Given the description of an element on the screen output the (x, y) to click on. 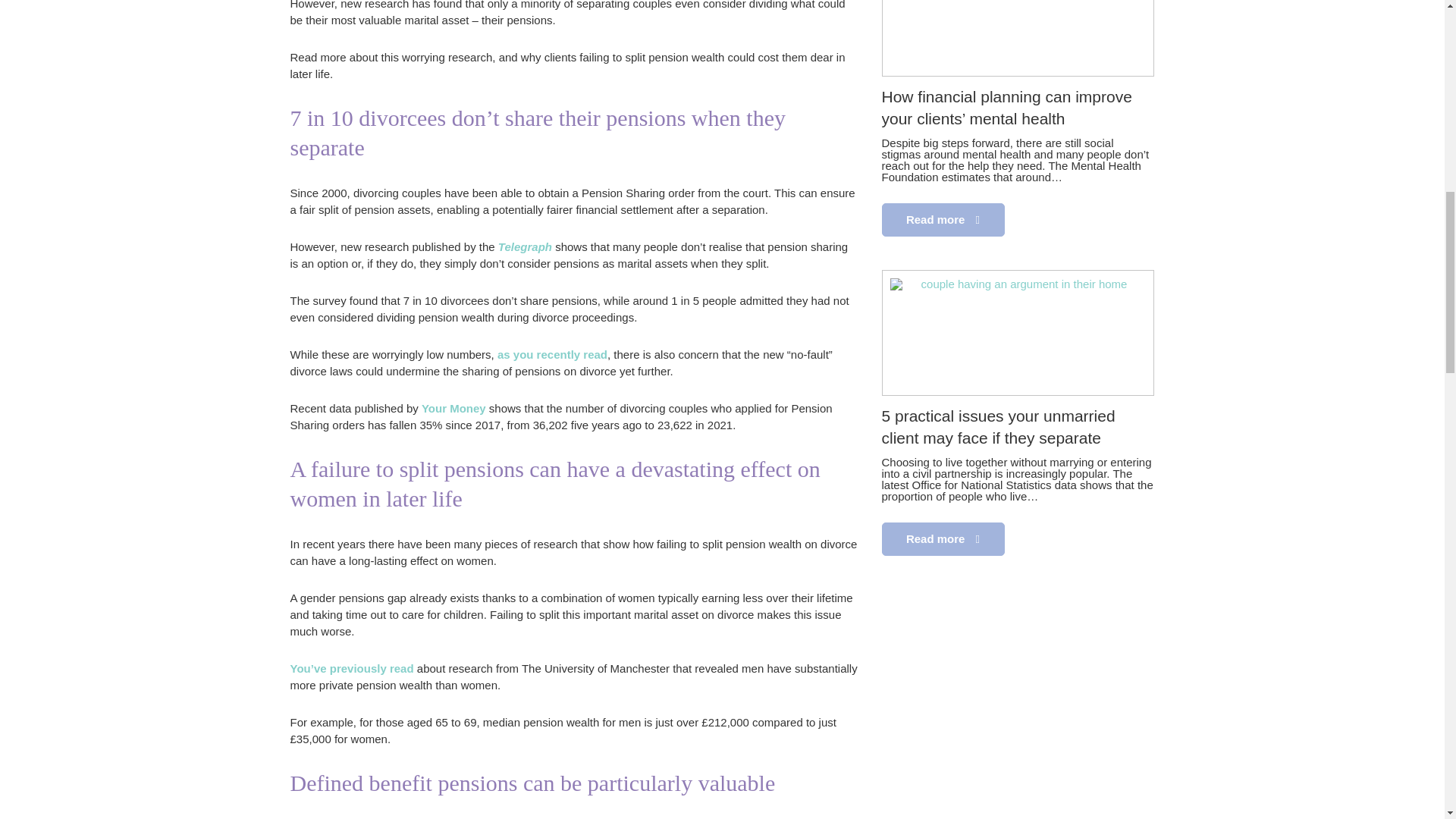
as you recently read (552, 354)
Telegraph (524, 246)
Your Money (454, 408)
